Given the description of an element on the screen output the (x, y) to click on. 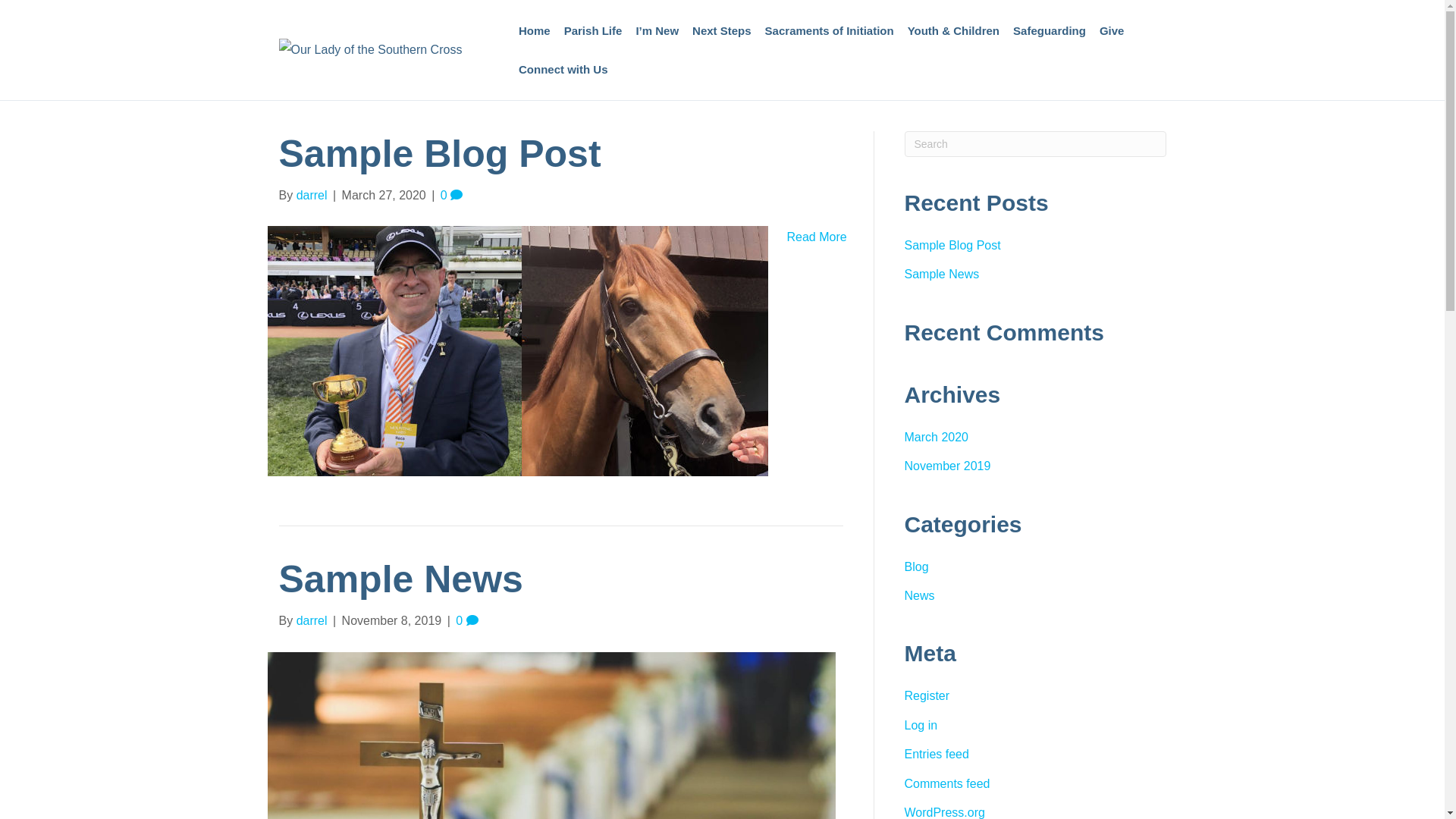
Sample News Element type: text (401, 579)
Comments feed Element type: text (946, 783)
Safeguarding Element type: text (1049, 30)
Read More Element type: text (817, 236)
Youth & Children Element type: text (953, 30)
Home Element type: text (534, 30)
Type and press Enter to search. Element type: hover (1034, 143)
Blog Element type: text (915, 566)
Sacraments of Initiation Element type: text (829, 30)
darrel Element type: text (311, 620)
Parish Life Element type: text (593, 30)
0 Element type: text (451, 194)
Log in Element type: text (920, 724)
Sample News Element type: text (941, 273)
Sample Blog Post Element type: text (440, 153)
News Element type: text (918, 595)
Connect with Us Element type: text (563, 69)
November 2019 Element type: text (946, 465)
Register Element type: text (926, 695)
Give Element type: text (1111, 30)
Next Steps Element type: text (721, 30)
March 2020 Element type: text (935, 436)
0 Element type: text (466, 620)
Entries feed Element type: text (935, 753)
Sample Blog Post Element type: text (951, 244)
darrel Element type: text (311, 194)
Sample Blog Post Element type: hover (516, 350)
